Given the description of an element on the screen output the (x, y) to click on. 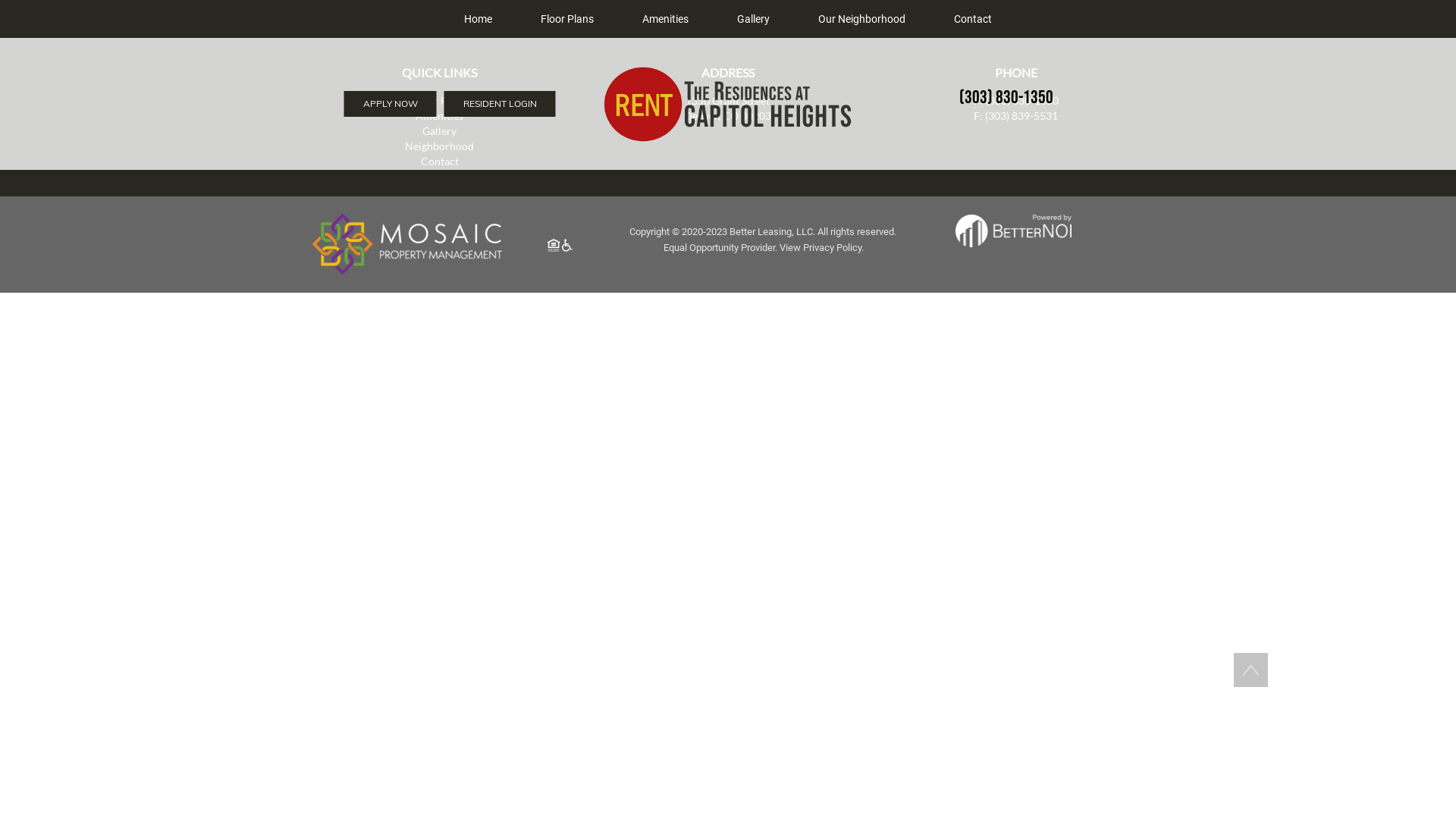
Floor Plans Element type: text (439, 100)
Contact Element type: text (439, 161)
Neighborhood Element type: text (438, 146)
Our Neighborhood Element type: text (861, 18)
APPLY NOW Element type: text (390, 103)
RESIDENT LOGIN Element type: text (499, 103)
Privacy Policy Element type: text (832, 247)
Floor Plans Element type: text (567, 18)
Home Element type: text (477, 18)
Contact Element type: text (972, 18)
Gallery Element type: text (752, 18)
Amenities Element type: text (665, 18)
Gallery Element type: text (439, 131)
Back to top Element type: text (1250, 669)
Amenities Element type: text (439, 115)
